Given the description of an element on the screen output the (x, y) to click on. 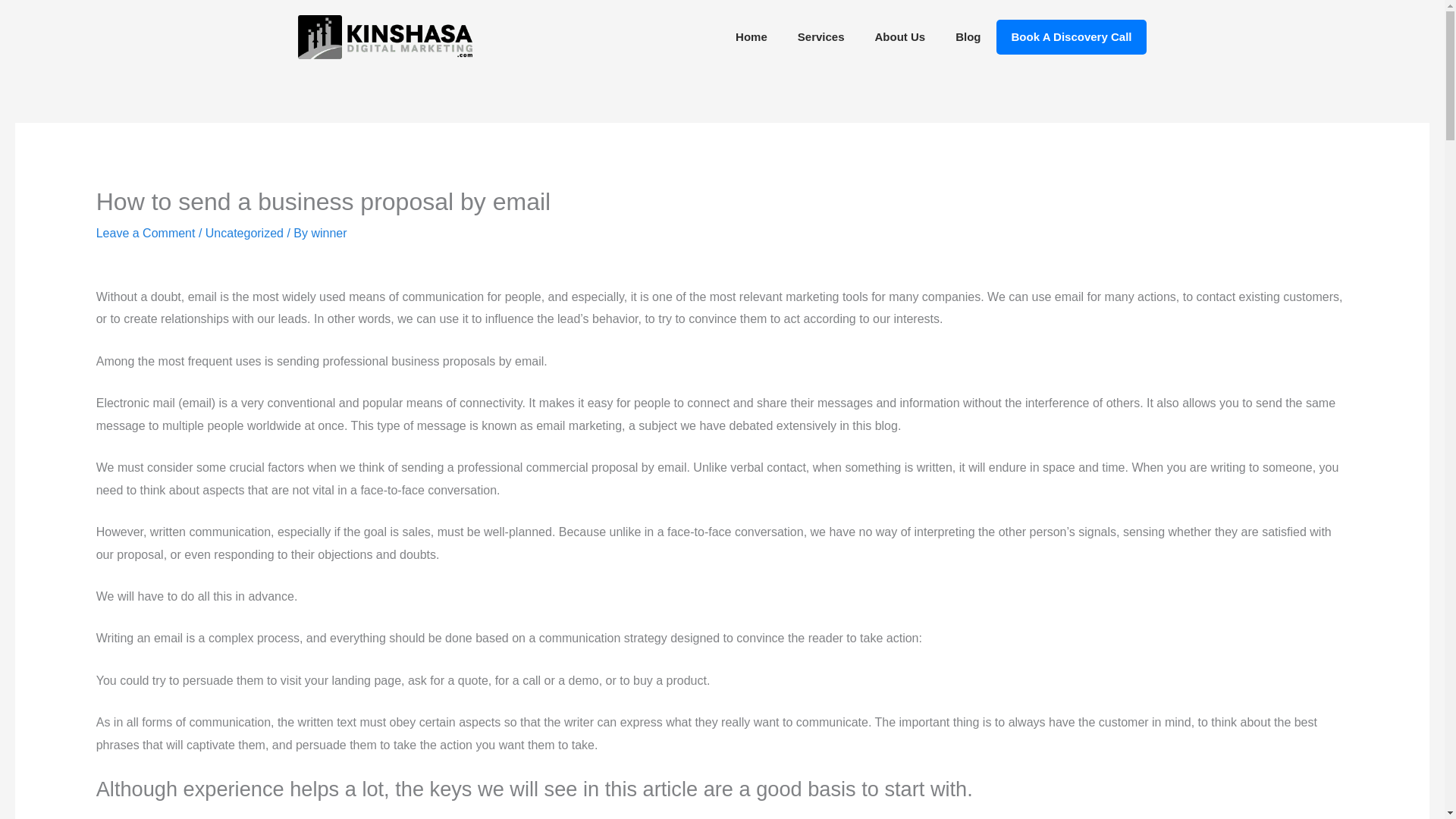
Home (751, 36)
About Us (900, 36)
View all posts by winner (328, 232)
Services (821, 36)
Book A Discovery Call (1071, 36)
Blog (967, 36)
Leave a Comment (145, 232)
